Given the description of an element on the screen output the (x, y) to click on. 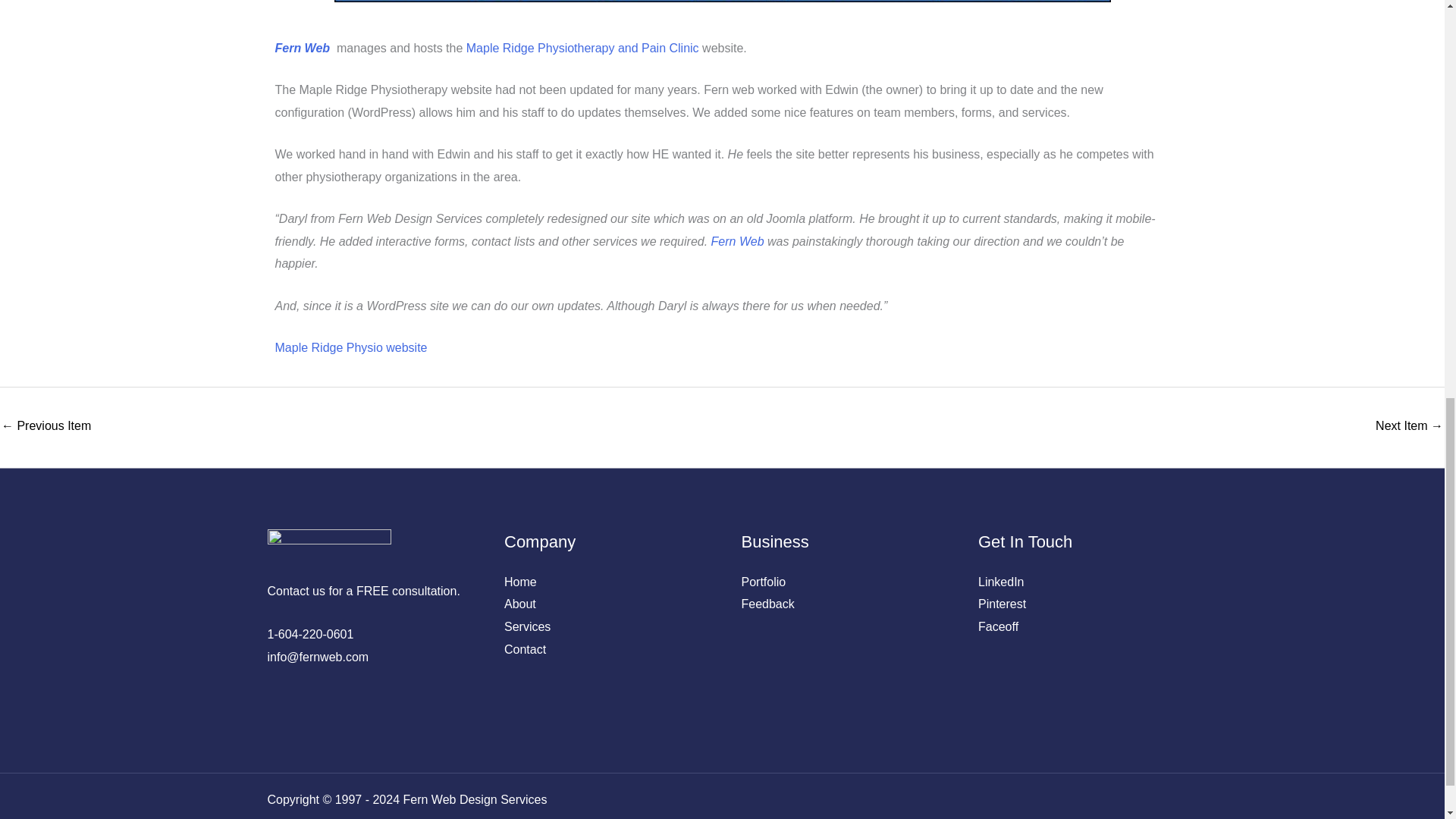
Nine Mile Metals (45, 427)
Dynamic scheduling system (1408, 427)
Fern Web (737, 241)
Fern Web (304, 47)
Maple Ridge Physiotherapy and Pain Clinic (581, 47)
